Given the description of an element on the screen output the (x, y) to click on. 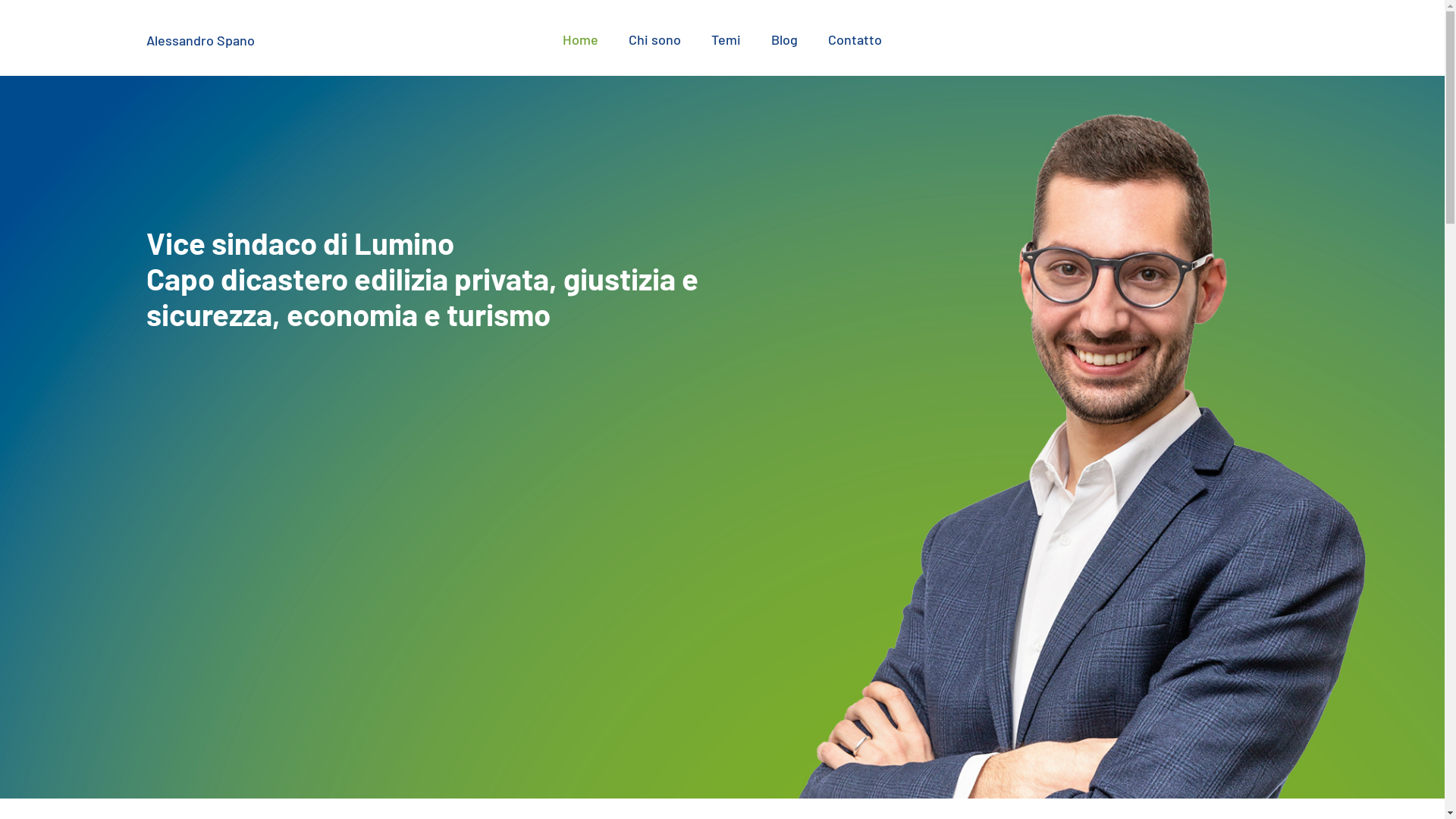
Home Element type: text (580, 38)
Chi sono Element type: text (654, 38)
Blog Element type: text (784, 38)
Contatto Element type: text (854, 38)
Alessandro Spano Element type: text (199, 39)
Temi Element type: text (725, 38)
